Given the description of an element on the screen output the (x, y) to click on. 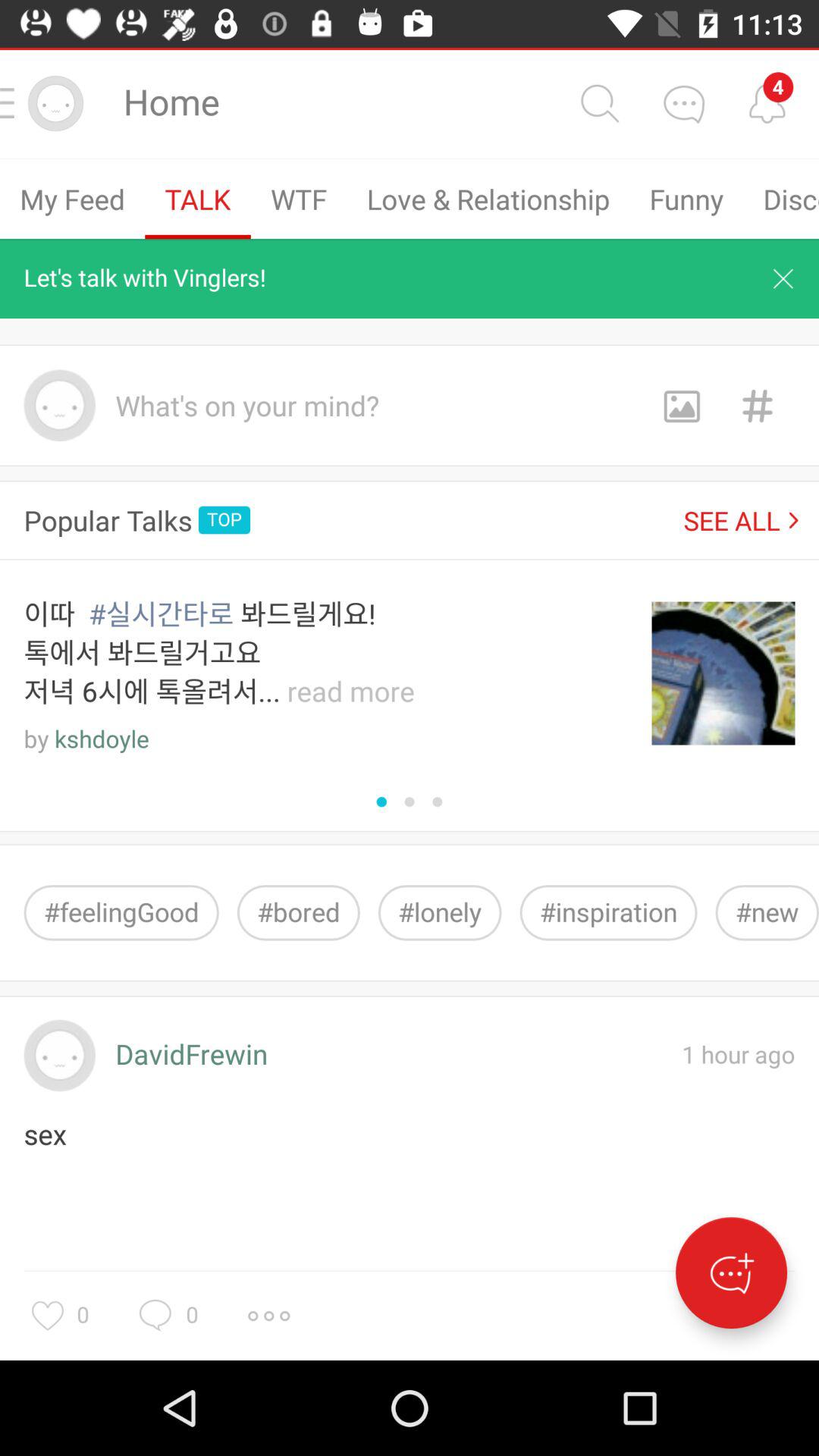
press the icon to the right of what s on icon (681, 405)
